Given the description of an element on the screen output the (x, y) to click on. 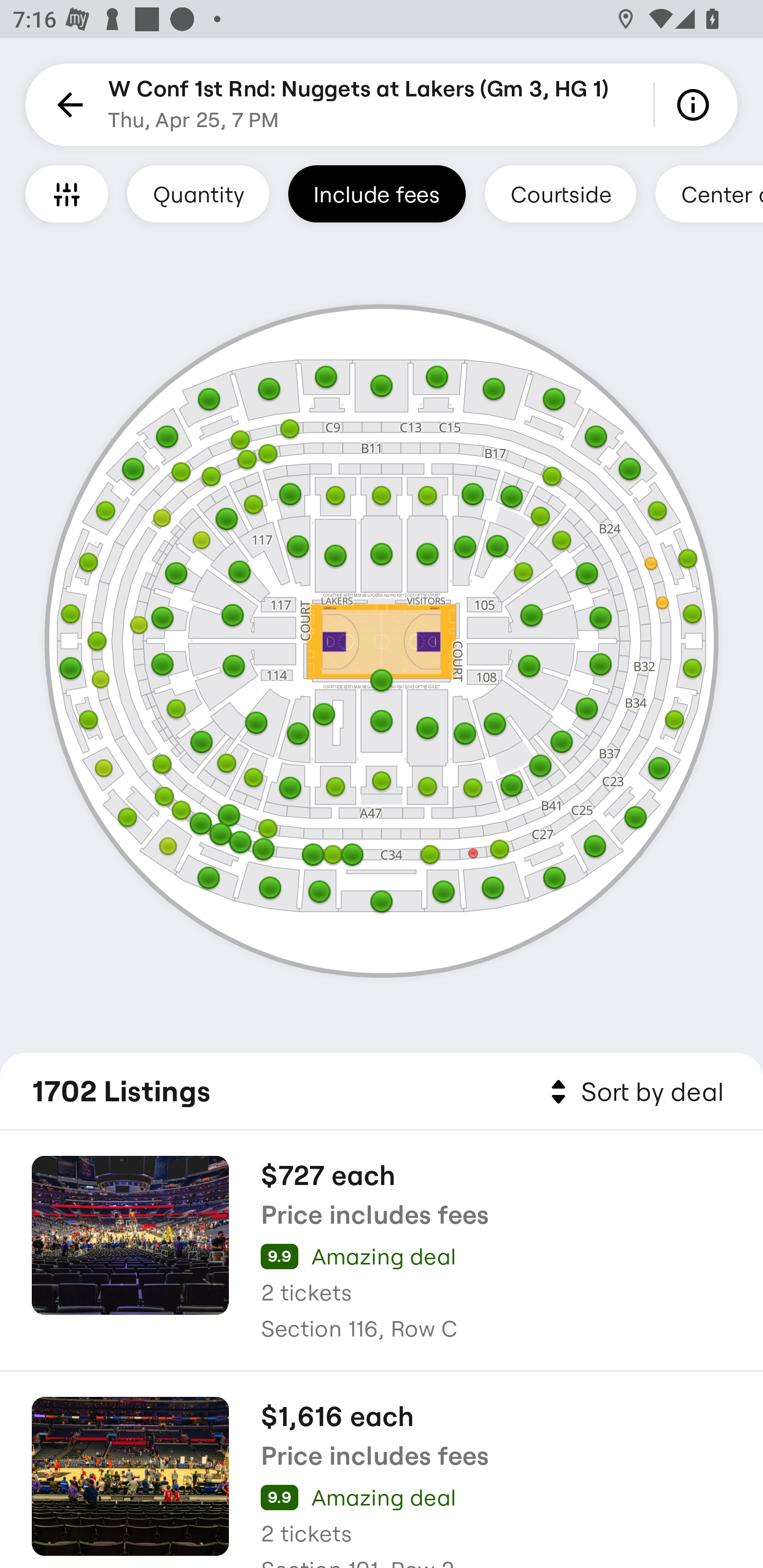
Back (66, 104)
Info (695, 104)
Filters and Accessible Seating (66, 193)
Quantity (198, 193)
Include fees (376, 193)
Courtside (560, 193)
Center court (709, 193)
Sort by deal (633, 1091)
